Given the description of an element on the screen output the (x, y) to click on. 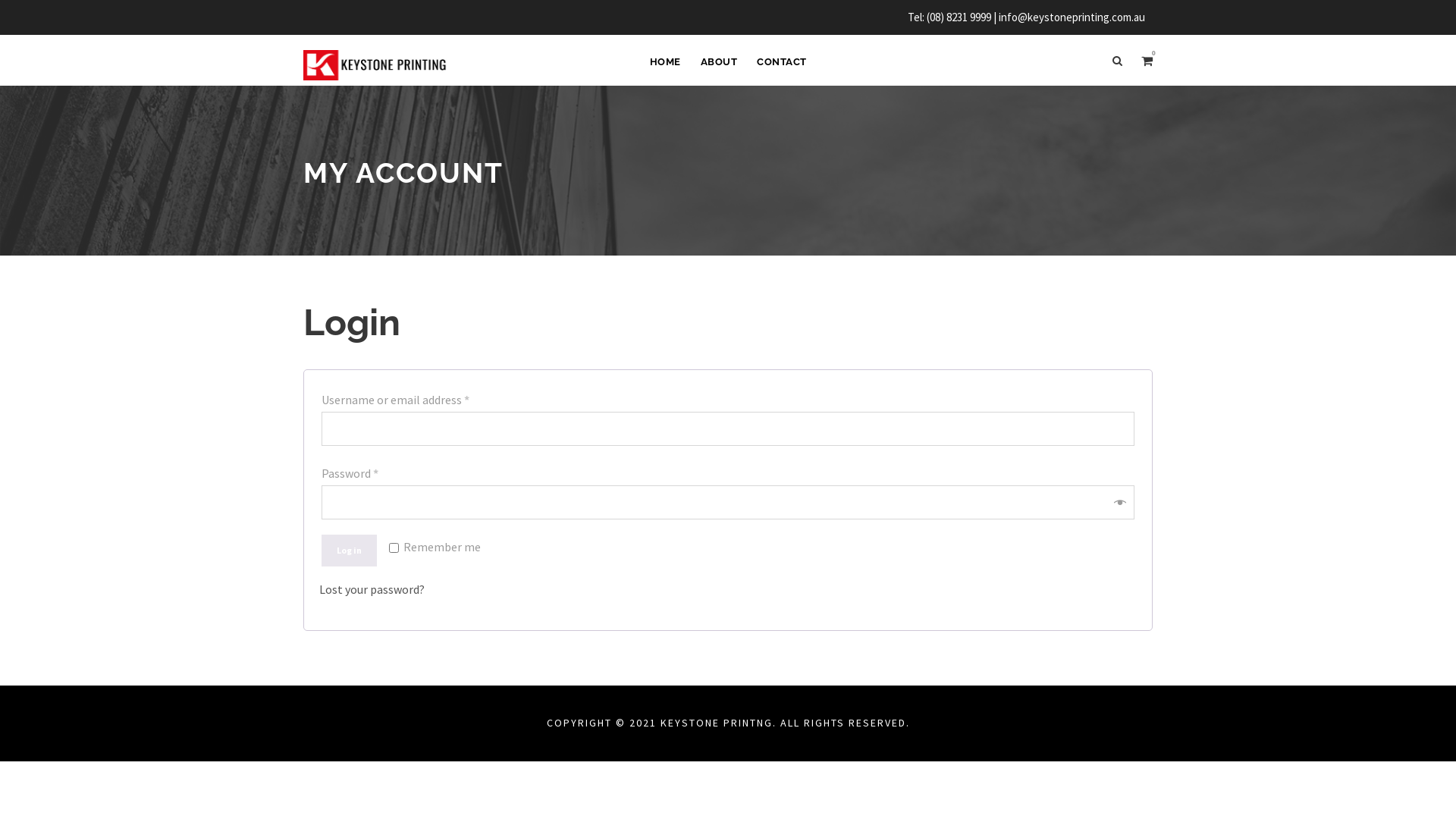
CONTACT Element type: text (781, 68)
ABOUT Element type: text (718, 68)
Lost your password? Element type: text (371, 588)
HOME Element type: text (664, 68)
Log in Element type: text (348, 550)
